Given the description of an element on the screen output the (x, y) to click on. 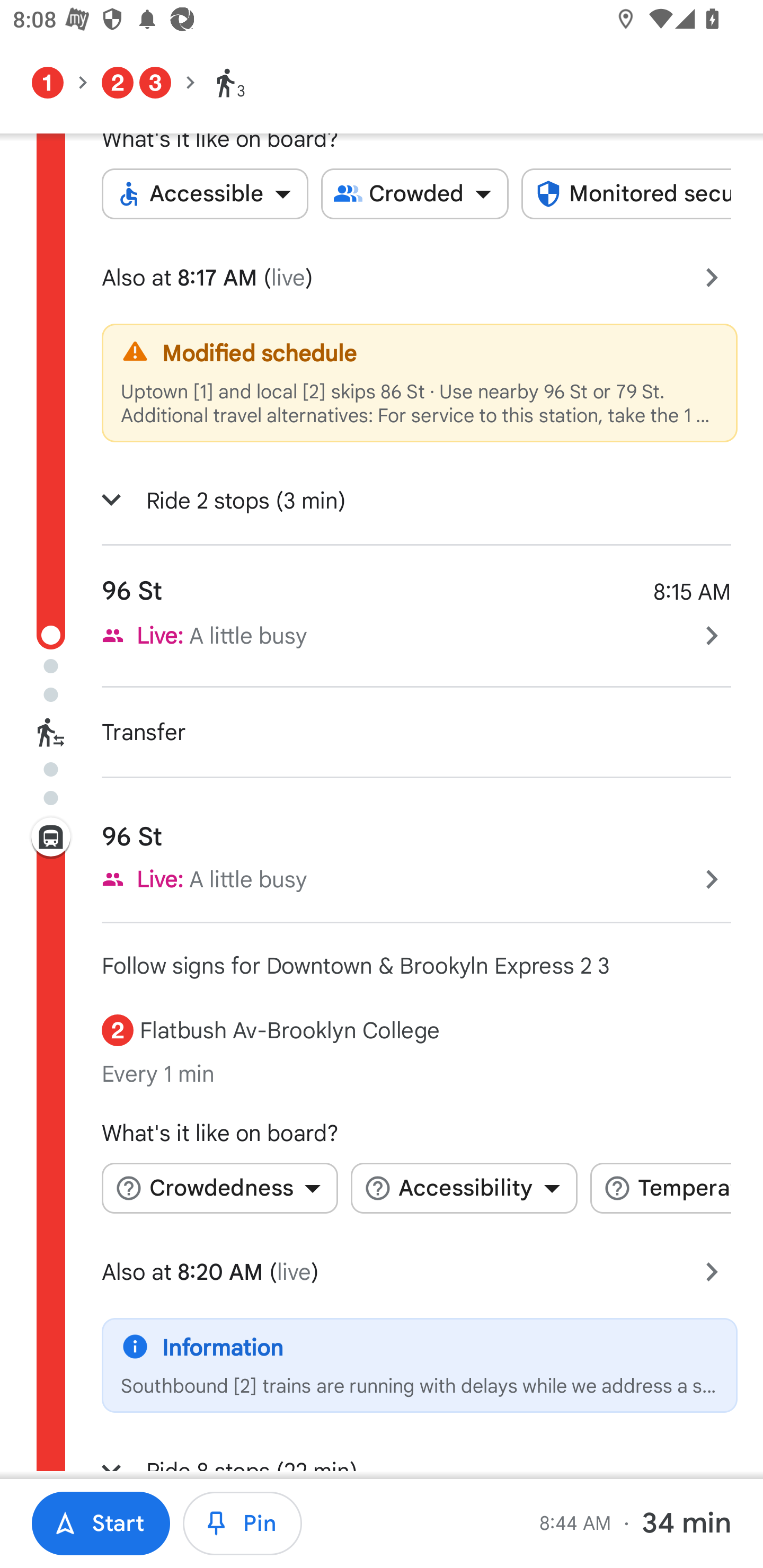
Accessible Accessible Accessible (204, 193)
Crowded Crowded Crowded (414, 193)
Transfer (381, 732)
Crowdedness Crowdedness Crowdedness (219, 1187)
Accessibility Accessibility Accessibility (463, 1187)
Temperature Temperature Temperature (660, 1187)
Re-center map to your location (702, 1304)
Pin trip Pin Pin trip (242, 1522)
